Given the description of an element on the screen output the (x, y) to click on. 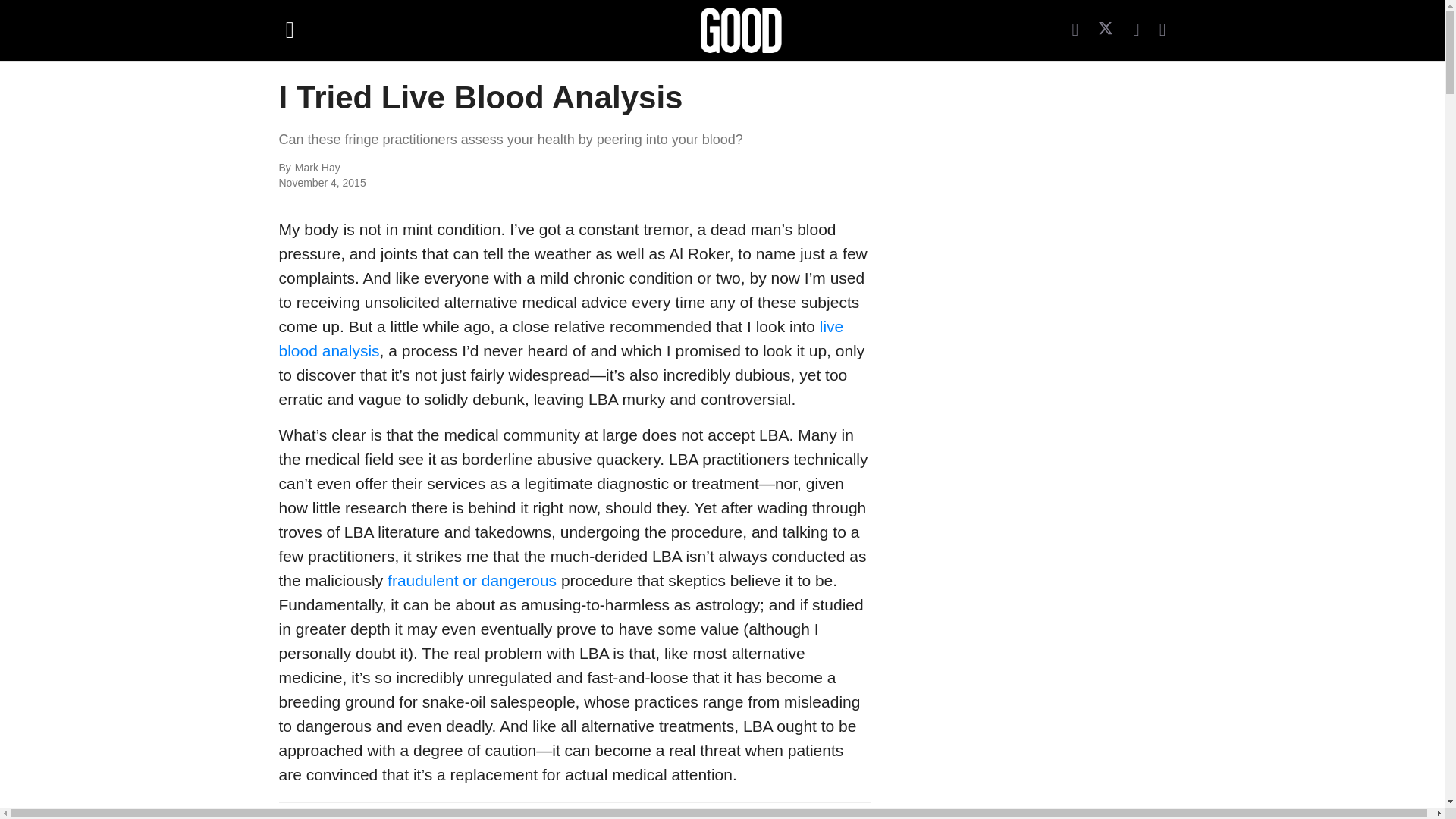
live blood analysis (561, 338)
Mark Hay (459, 168)
fraudulent or dangerous (471, 579)
